Given the description of an element on the screen output the (x, y) to click on. 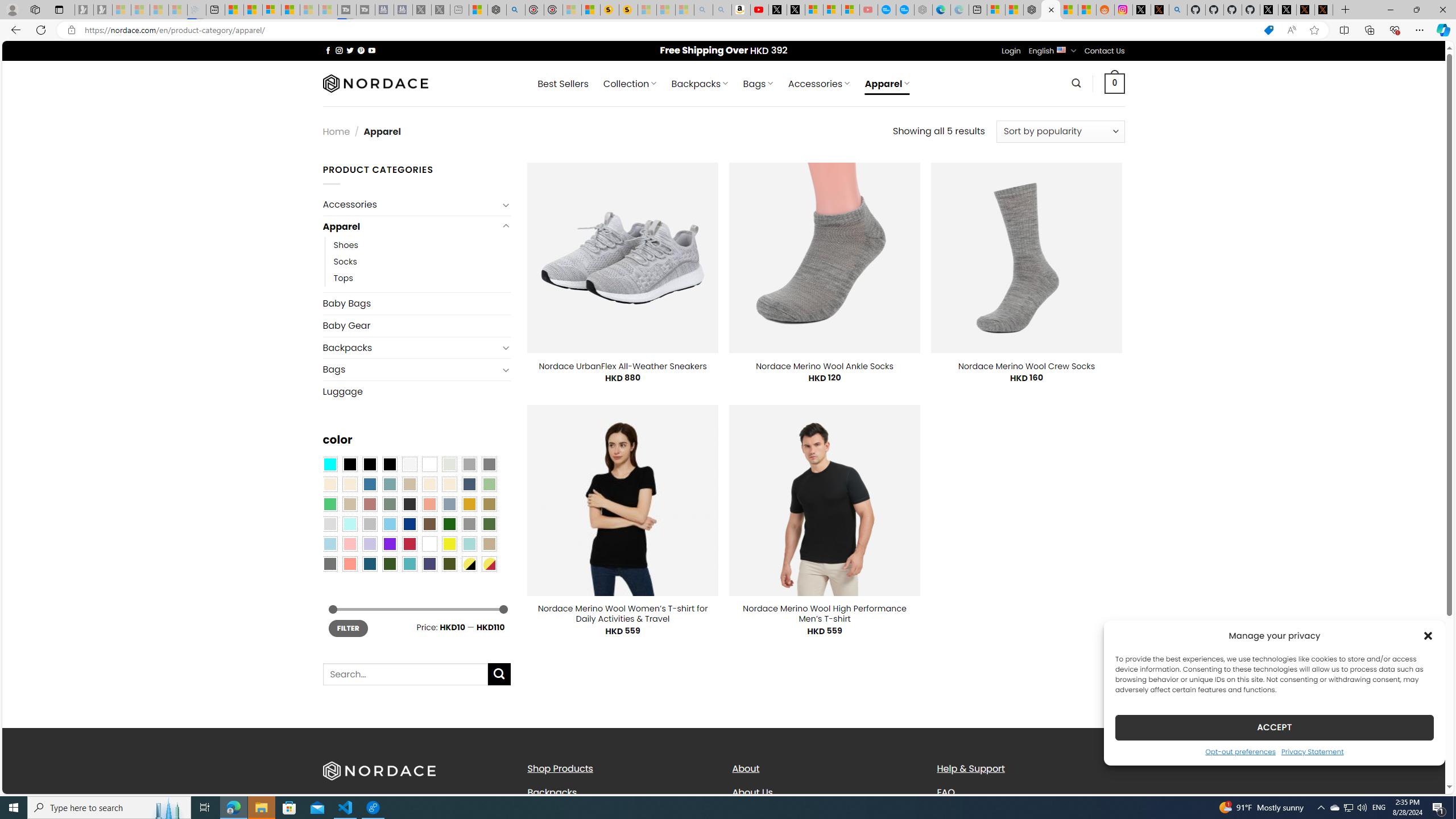
Capri Blue (369, 563)
X Privacy Policy (1324, 9)
About Us (826, 792)
